Given the description of an element on the screen output the (x, y) to click on. 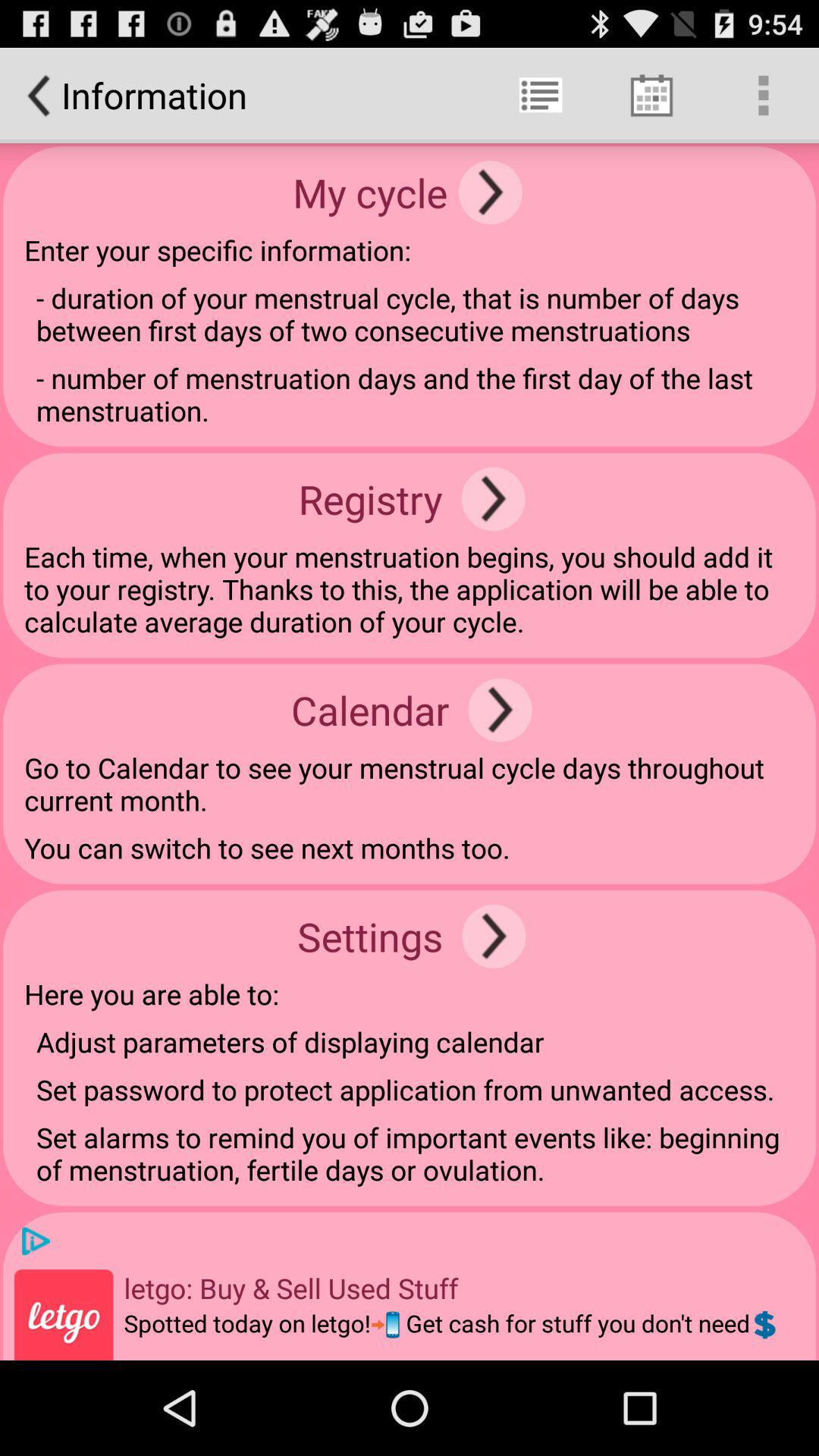
launch the item above the spotted today on (290, 1287)
